Given the description of an element on the screen output the (x, y) to click on. 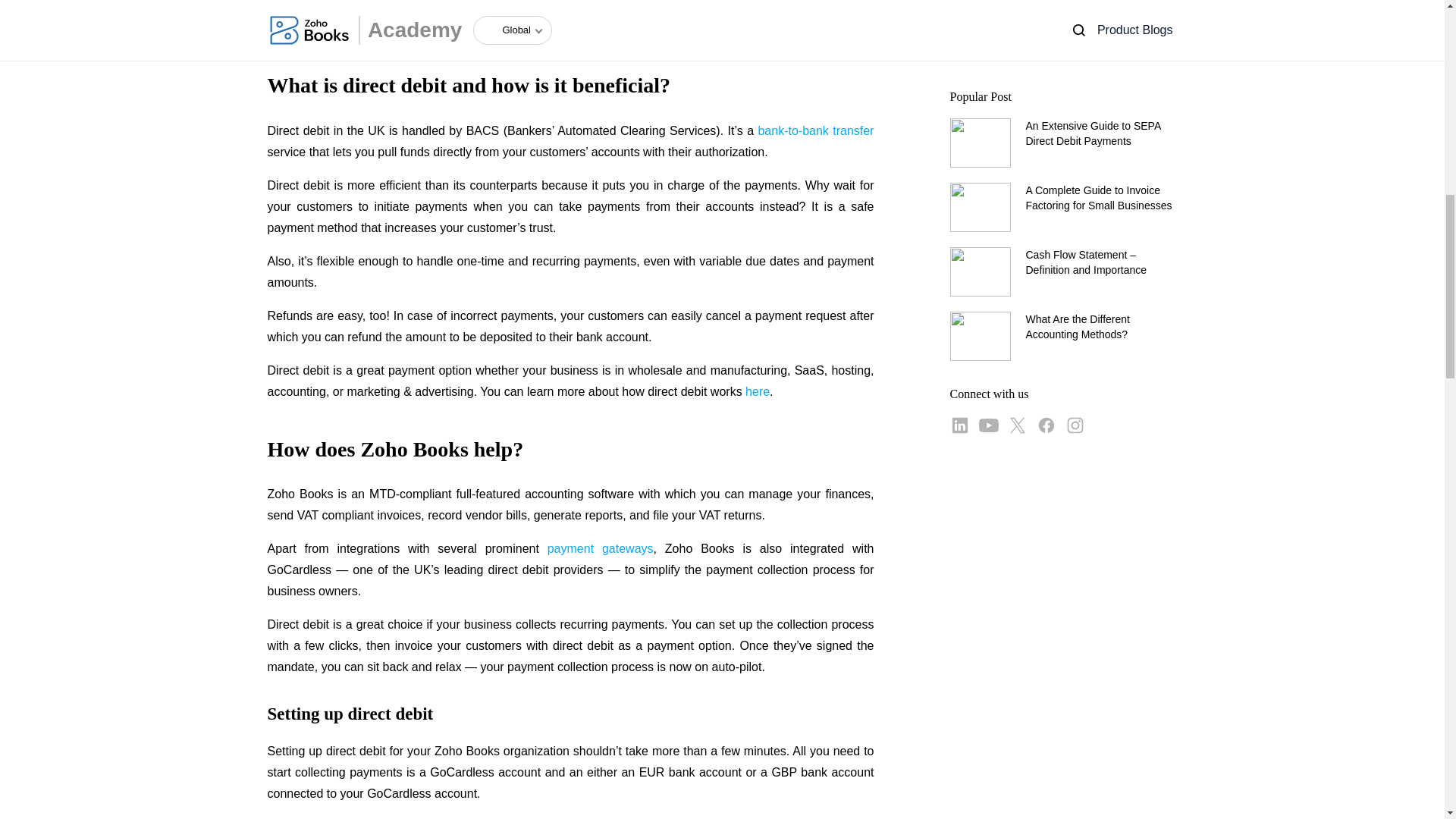
Direct debit (297, 27)
payment gateways (600, 548)
here (757, 391)
bank-to-bank transfer (815, 130)
